Given the description of an element on the screen output the (x, y) to click on. 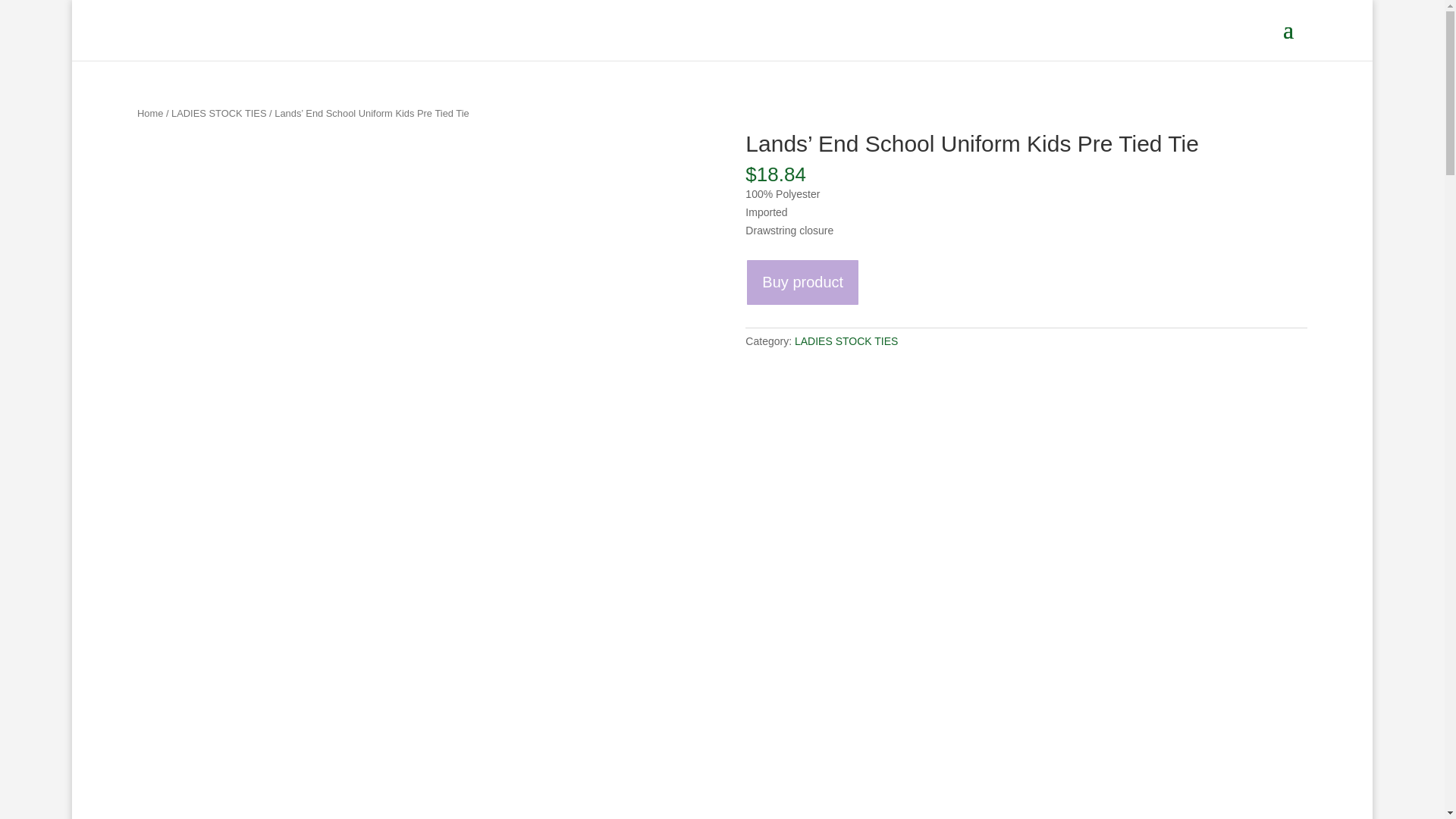
LADIES STOCK TIES (846, 340)
Buy product (802, 282)
Home (149, 112)
LADIES STOCK TIES (218, 112)
